Given the description of an element on the screen output the (x, y) to click on. 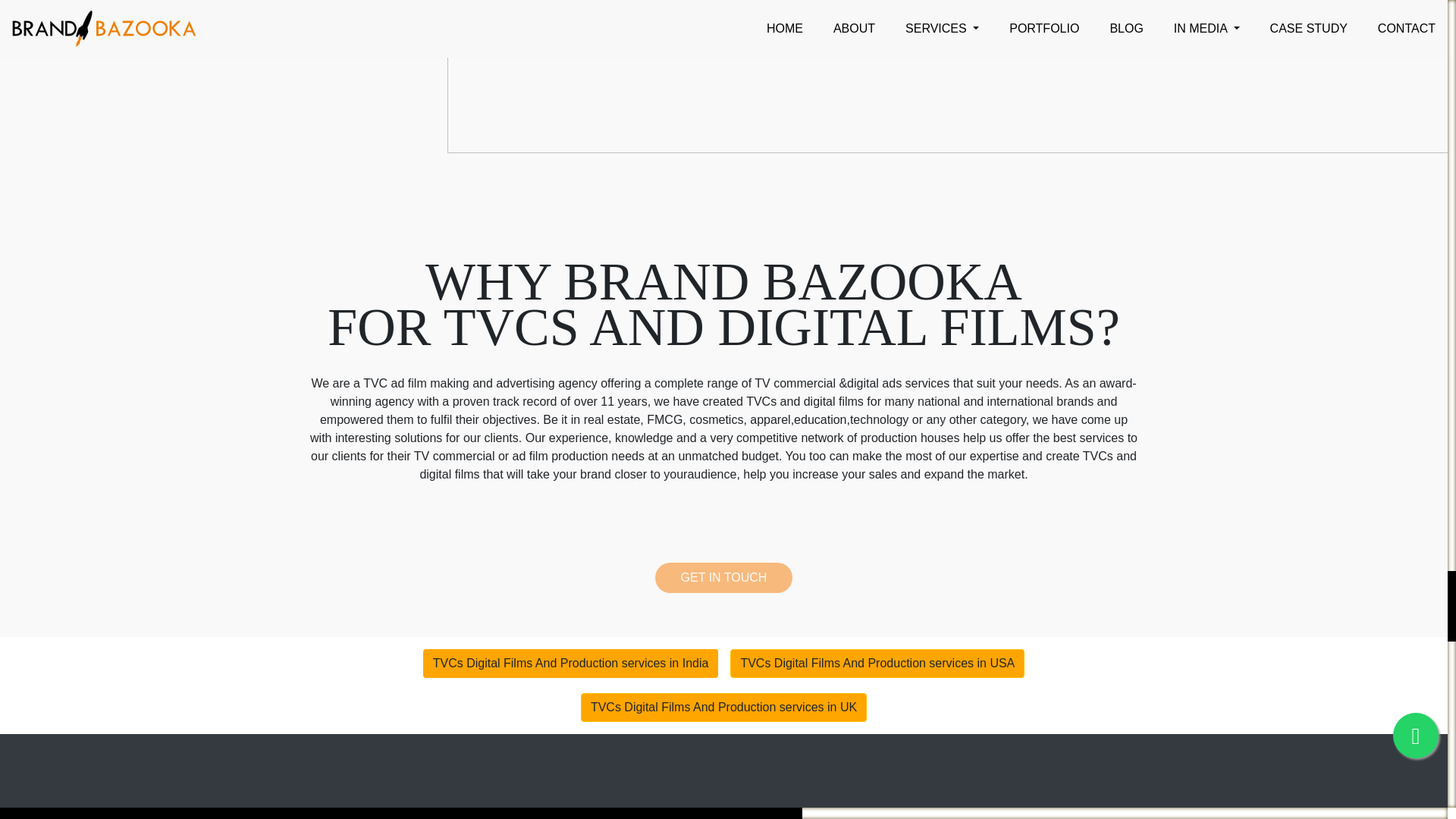
GET IN TOUCH (723, 577)
TVCs Digital Films And Production services in USA (877, 663)
TVCs Digital Films And Production services in UK (723, 706)
GET IN TOUCH (724, 576)
TVCs Digital Films And Production services in India (571, 663)
